Given the description of an element on the screen output the (x, y) to click on. 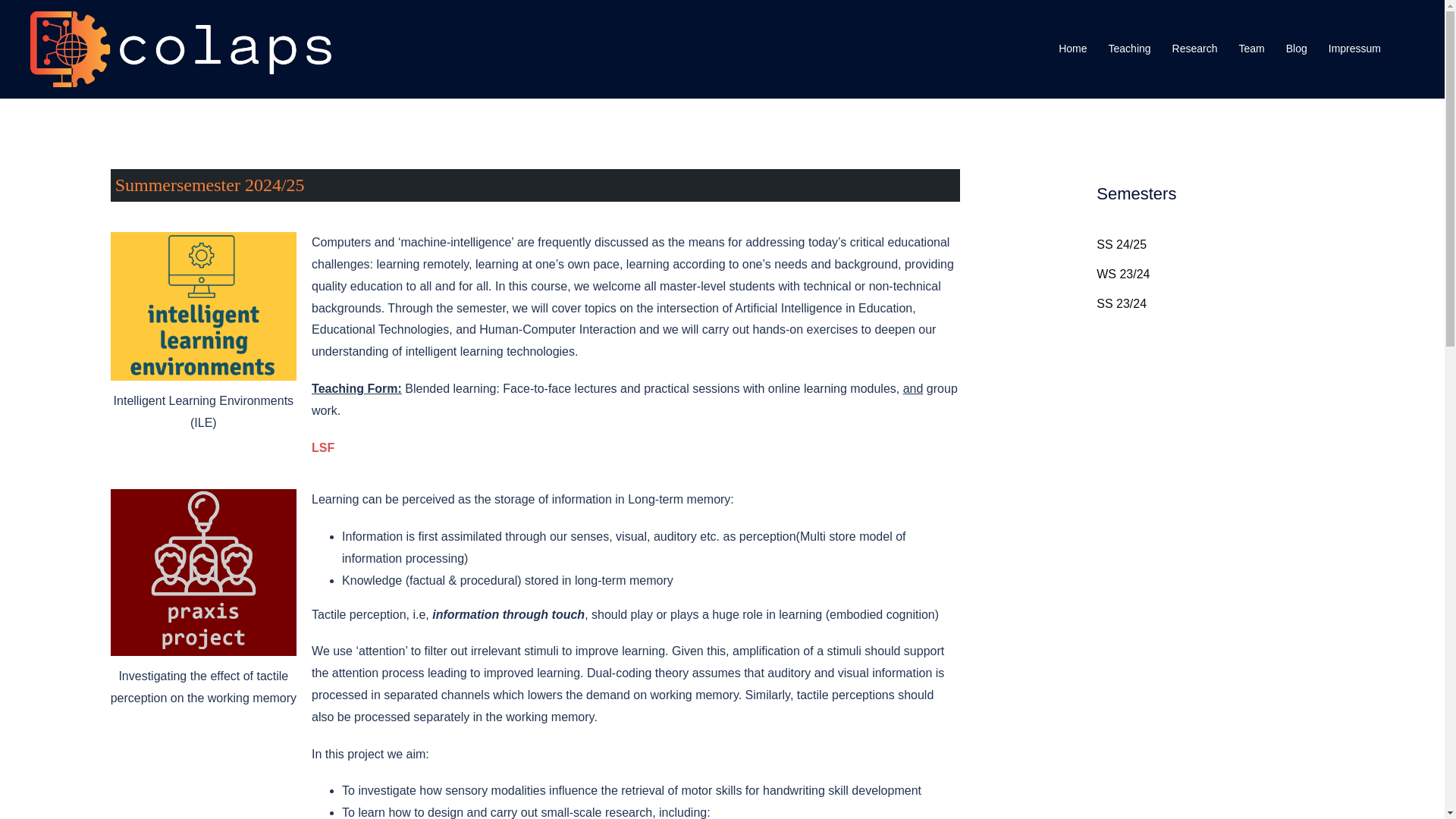
Blog (1296, 48)
Team (1252, 48)
Research (1194, 48)
Home (1072, 48)
colaps (180, 47)
LSF (322, 447)
Teaching (1129, 48)
Impressum (1353, 48)
